Given the description of an element on the screen output the (x, y) to click on. 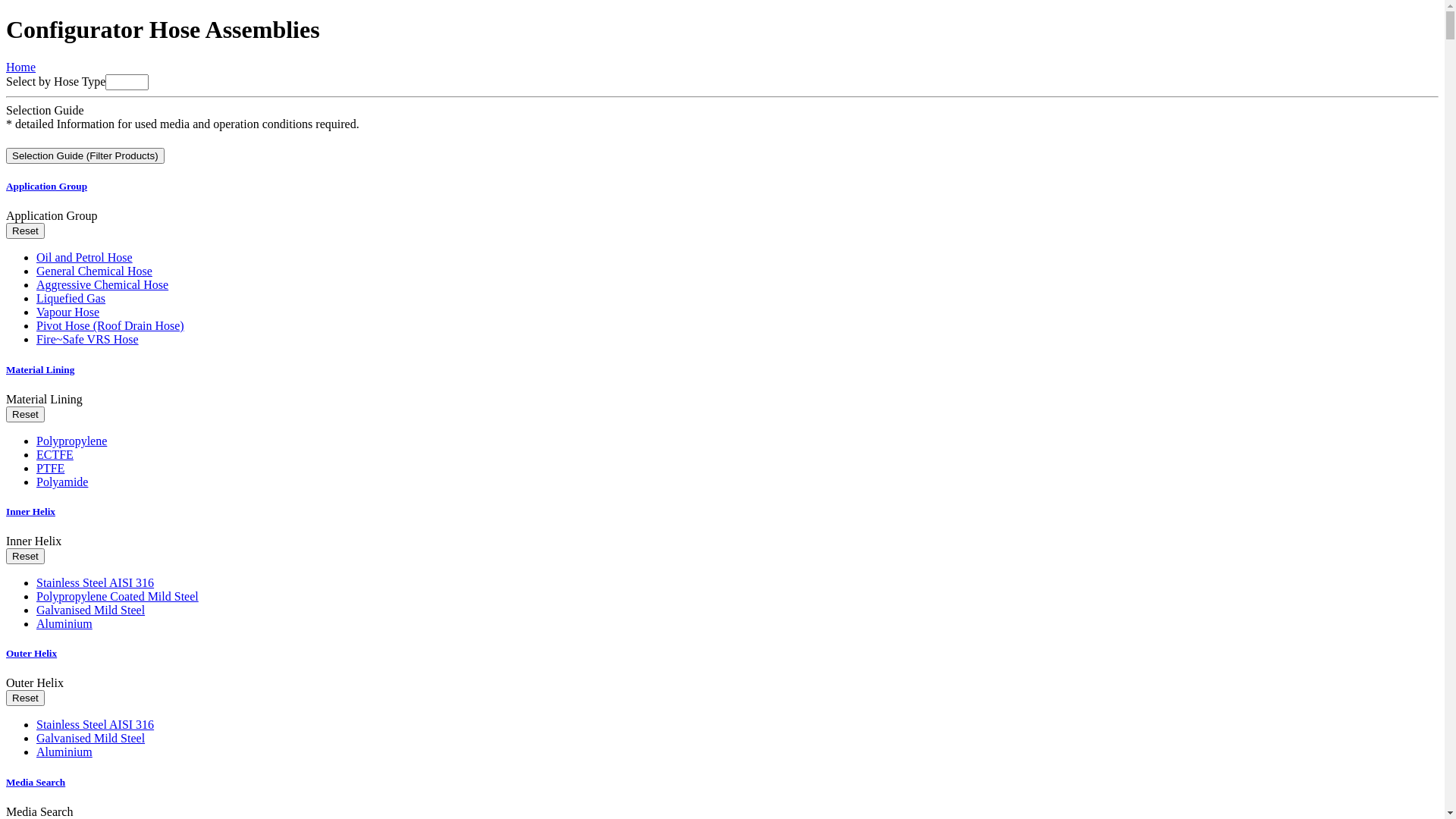
Home Element type: text (20, 66)
Reset Element type: text (25, 698)
General Chemical Hose Element type: text (94, 270)
Vapour Hose Element type: text (67, 311)
Pivot Hose (Roof Drain Hose) Element type: text (110, 325)
Inner Helix Element type: text (722, 511)
Aluminium Element type: text (64, 623)
Polyamide Element type: text (61, 481)
Galvanised Mild Steel Element type: text (90, 737)
Galvanised Mild Steel Element type: text (90, 609)
Liquefied Gas Element type: text (70, 297)
ECTFE Element type: text (54, 454)
PTFE Element type: text (50, 467)
Reset Element type: text (25, 414)
Material Lining Element type: text (722, 370)
Fire~Safe VRS Hose Element type: text (87, 338)
Application Group Element type: text (46, 185)
Polypropylene Coated Mild Steel Element type: text (117, 595)
Reset Element type: text (25, 556)
Media Search Element type: text (722, 782)
Stainless Steel AISI 316 Element type: text (94, 724)
Outer Helix Element type: text (722, 653)
Oil and Petrol Hose Element type: text (84, 257)
Aluminium Element type: text (64, 751)
Stainless Steel AISI 316 Element type: text (94, 582)
Polypropylene Element type: text (71, 440)
Selection Guide (Filter Products) Element type: text (85, 155)
Reset Element type: text (25, 230)
Aggressive Chemical Hose Element type: text (102, 284)
